Given the description of an element on the screen output the (x, y) to click on. 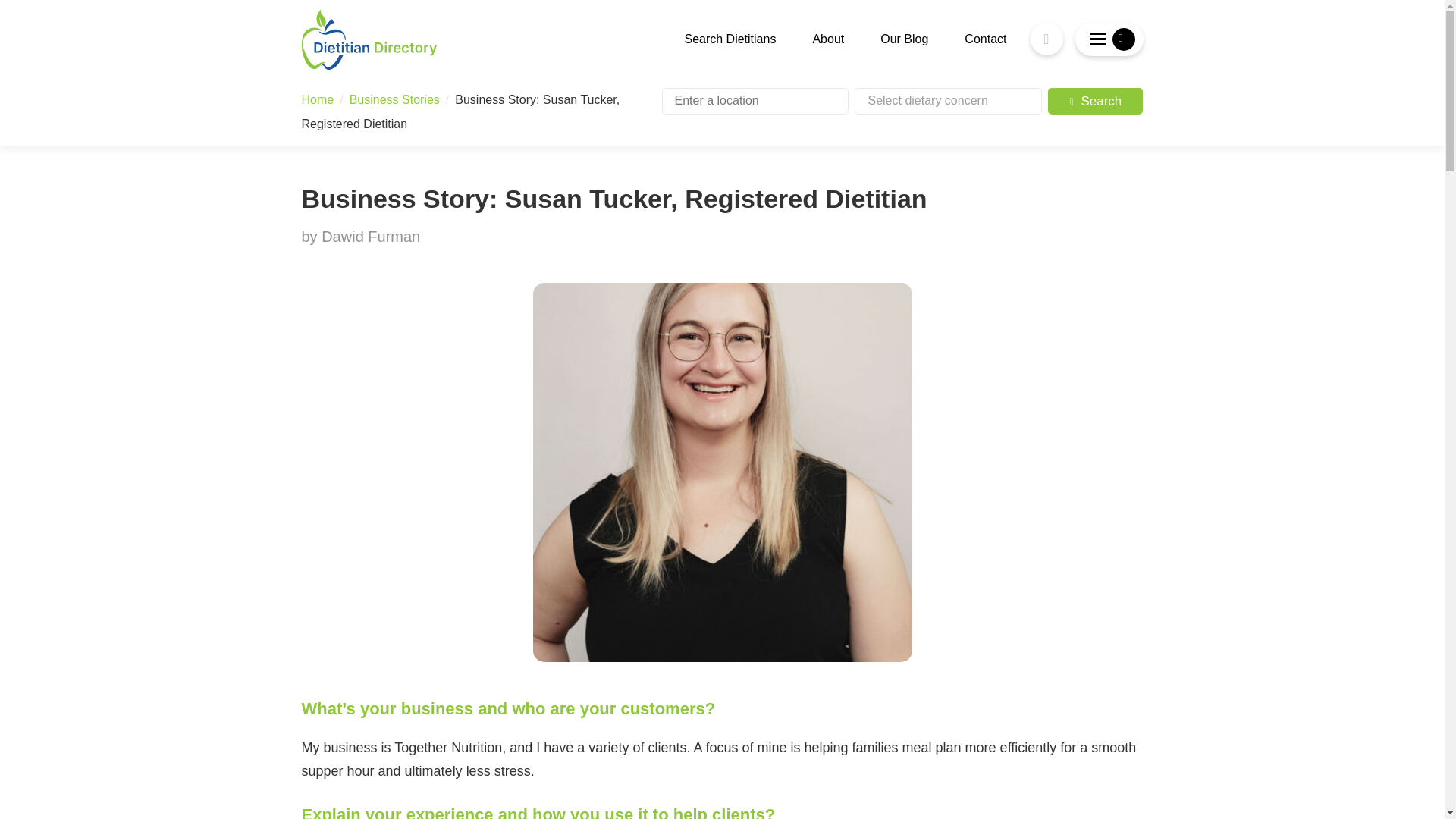
Search (1095, 100)
Our Blog (904, 38)
Home (317, 99)
Search Dietitians (730, 38)
Business Stories (394, 99)
Contact (984, 38)
About (828, 38)
